Given the description of an element on the screen output the (x, y) to click on. 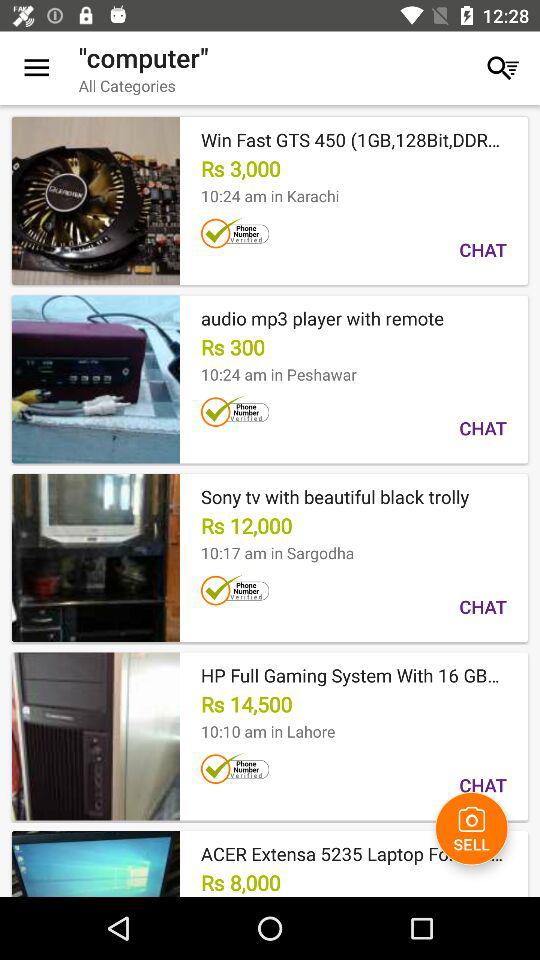
click the icon to the left of the "computer" icon (36, 68)
